Given the description of an element on the screen output the (x, y) to click on. 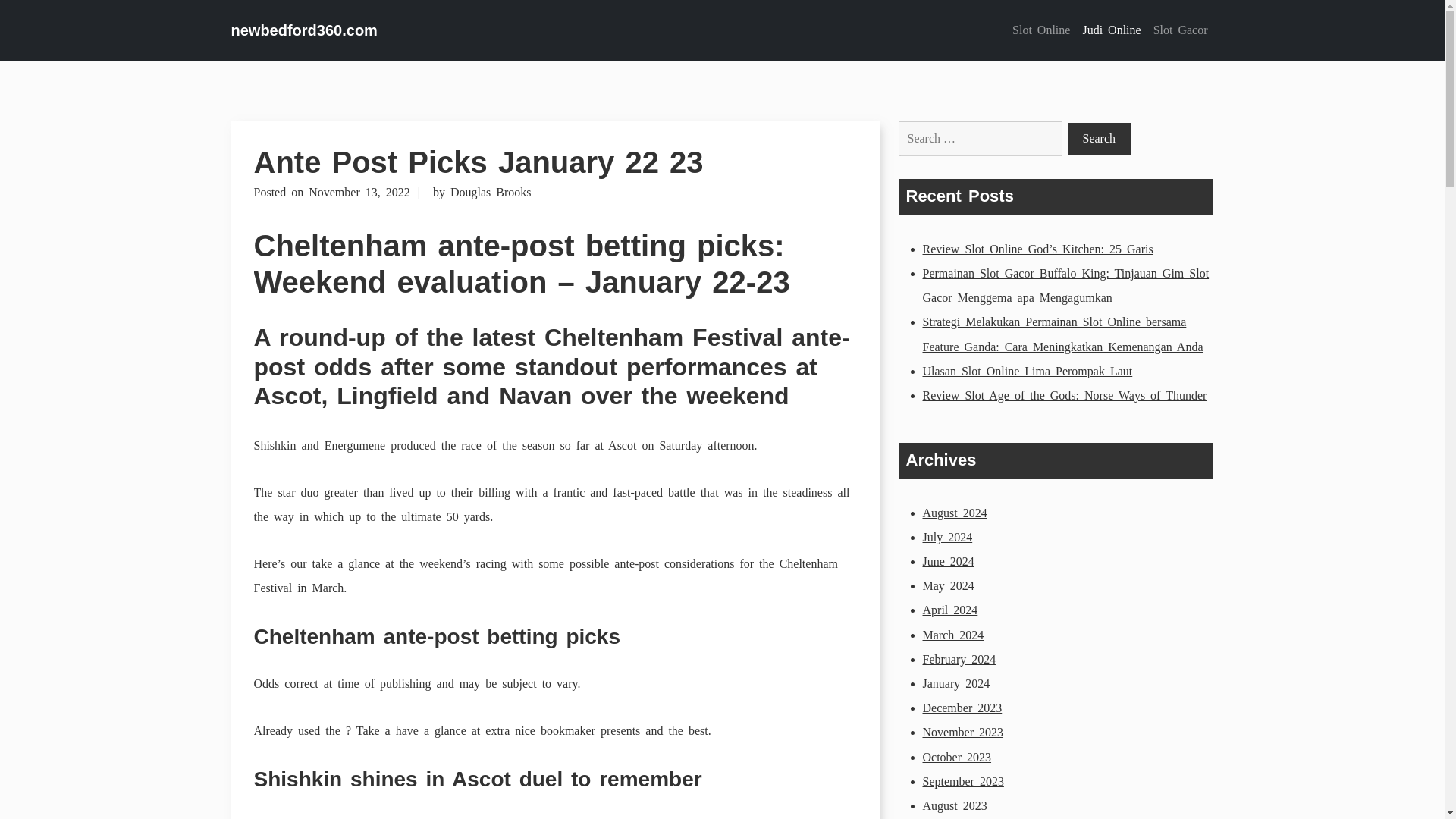
Search (1099, 138)
June 2024 (947, 561)
March 2024 (952, 634)
January 2024 (955, 683)
December 2023 (961, 707)
July 2024 (946, 536)
May 2024 (947, 585)
August 2023 (954, 805)
Ante Post Picks January 22 23 (478, 162)
newbedford360.com (303, 29)
